Given the description of an element on the screen output the (x, y) to click on. 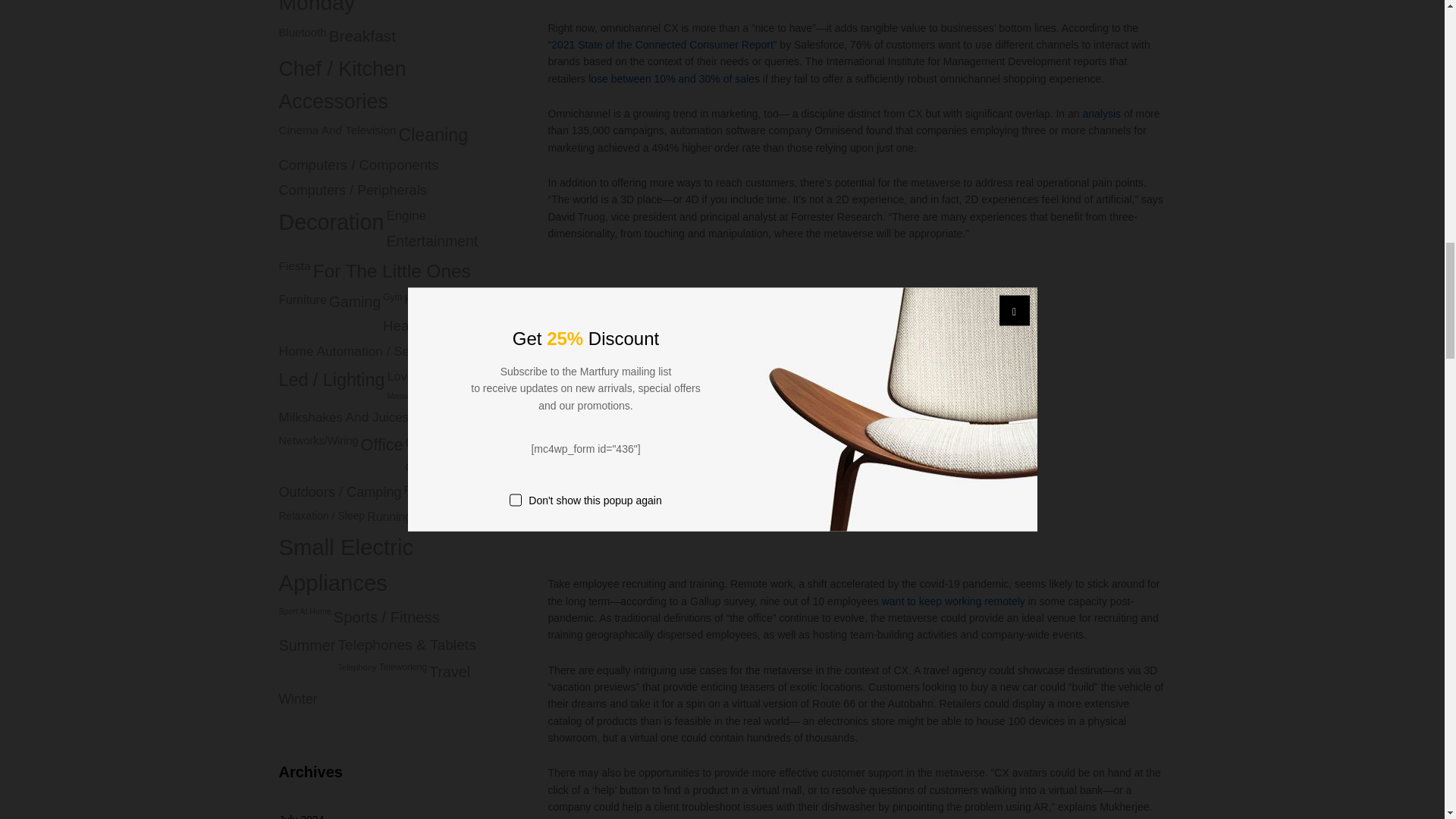
want to keep working remotely (953, 601)
analysis (1102, 113)
